Given the description of an element on the screen output the (x, y) to click on. 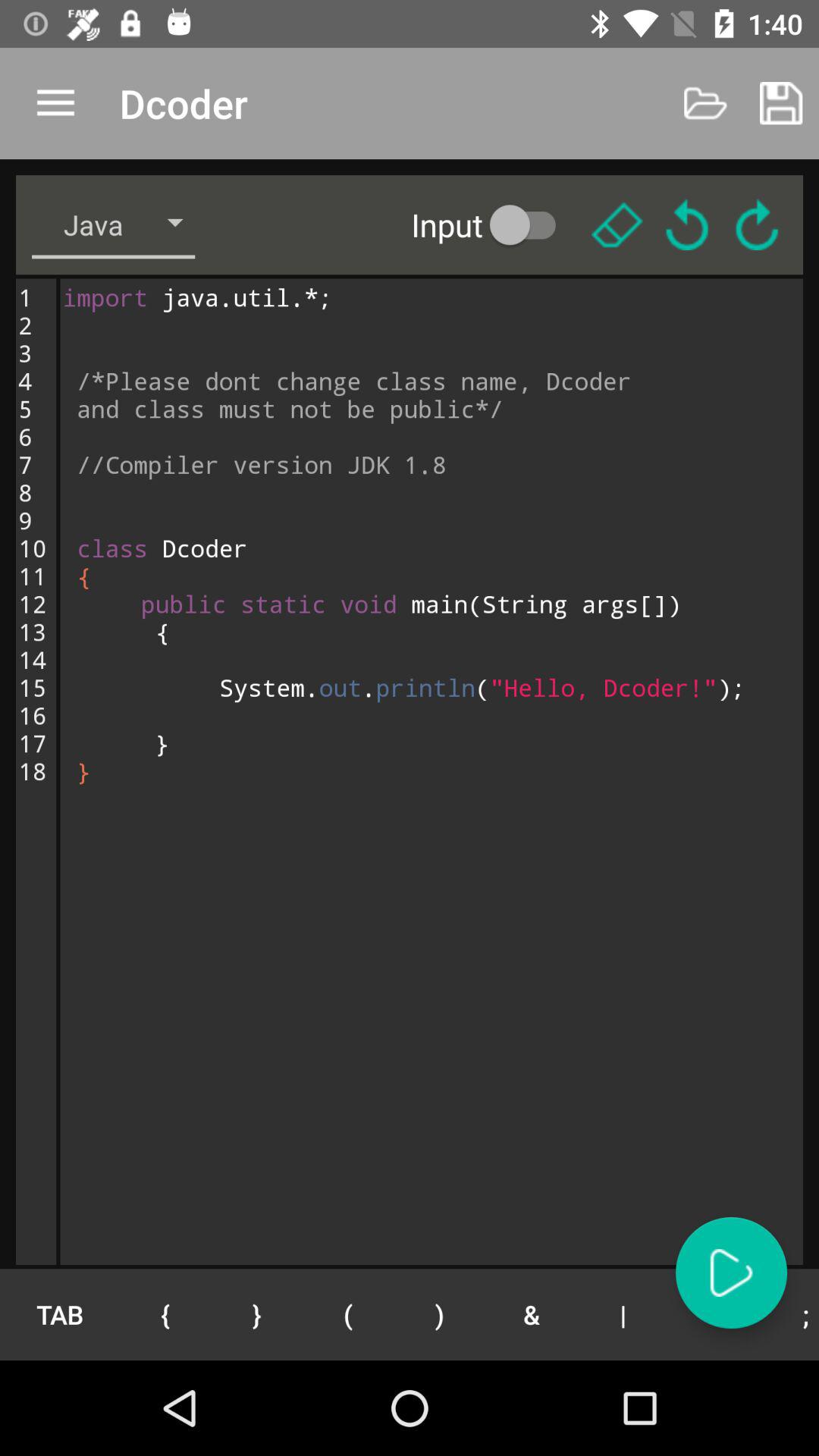
undo (686, 224)
